Given the description of an element on the screen output the (x, y) to click on. 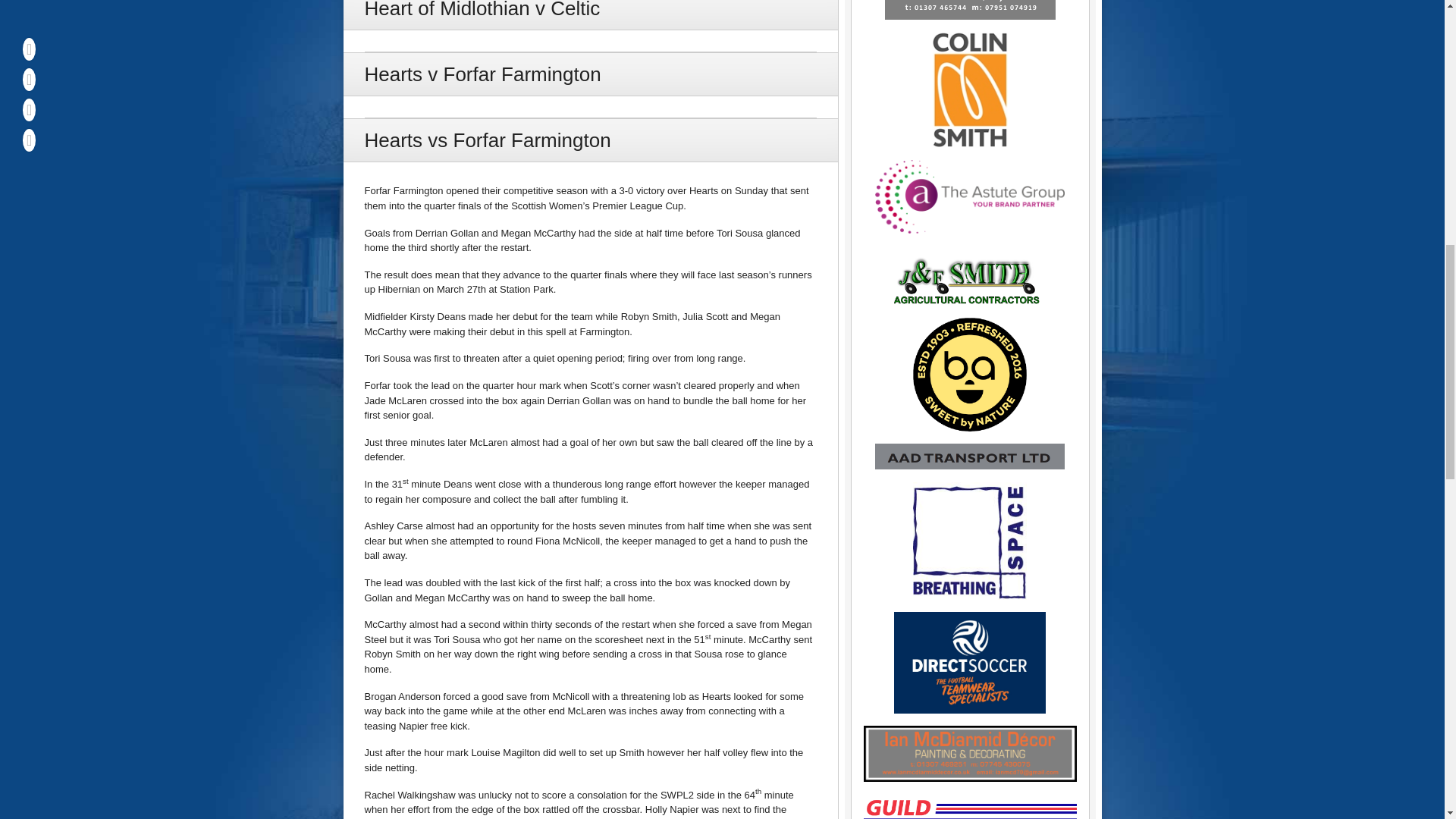
GuildHomesLtd (969, 806)
ADD Transport Ltd (969, 456)
Bon Accord Soft Drinks (969, 374)
DirectSoccer (969, 662)
CMSmith (969, 89)
Breathing Space (969, 540)
Astute (969, 196)
Garry Balfour (969, 10)
IanMcDiarmidDecor (969, 753)
